Given the description of an element on the screen output the (x, y) to click on. 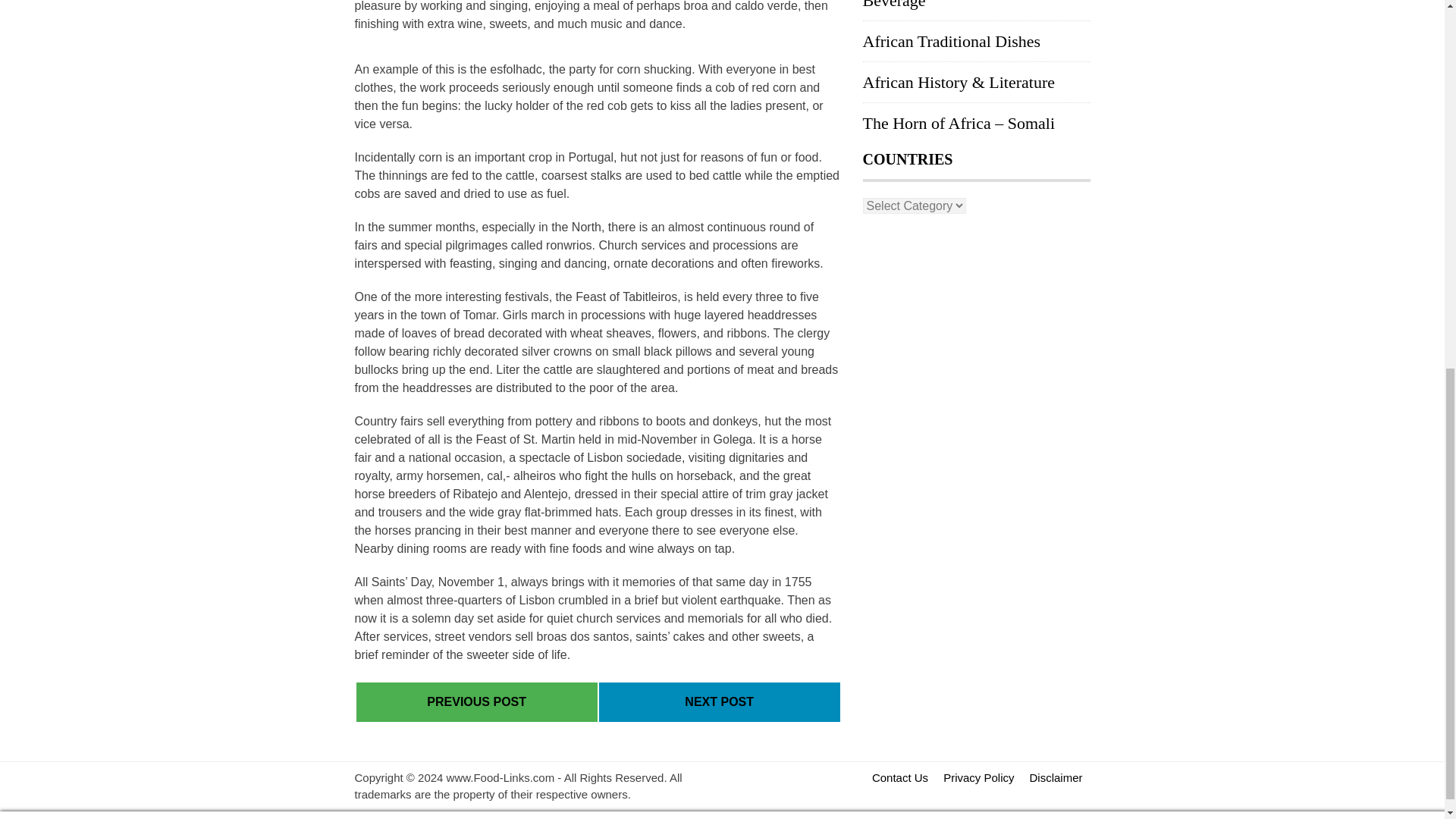
Disclaimer (1055, 777)
NEXT POST (719, 701)
Russian Food (476, 701)
African Traditional Dishes (952, 40)
PREVIOUS POST (476, 701)
The Netherlands Food and Culture (718, 701)
Privacy Policy (979, 777)
Evolution of African Food and Beverage (965, 4)
PREVIOUS POST (476, 701)
NEXT POST (718, 701)
